Given the description of an element on the screen output the (x, y) to click on. 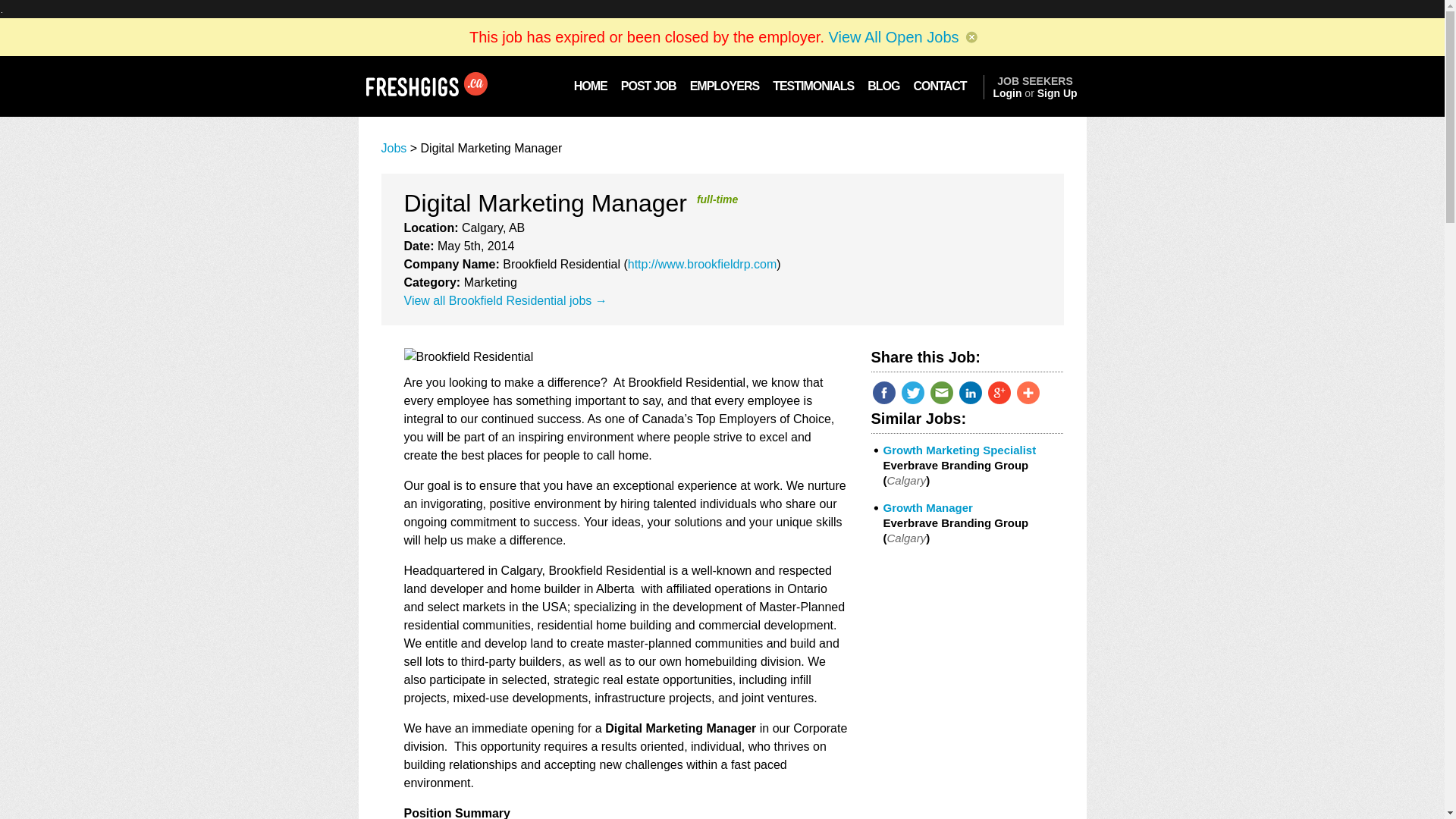
Jobs (393, 147)
EMPLOYERS (723, 86)
TESTIMONIALS (812, 86)
Login (1007, 92)
POST JOB (648, 86)
View All Open Jobs (893, 36)
Growth Manager (927, 507)
Growth Marketing Specialist (958, 449)
CONTACT (943, 86)
Sign Up (1056, 92)
